Given the description of an element on the screen output the (x, y) to click on. 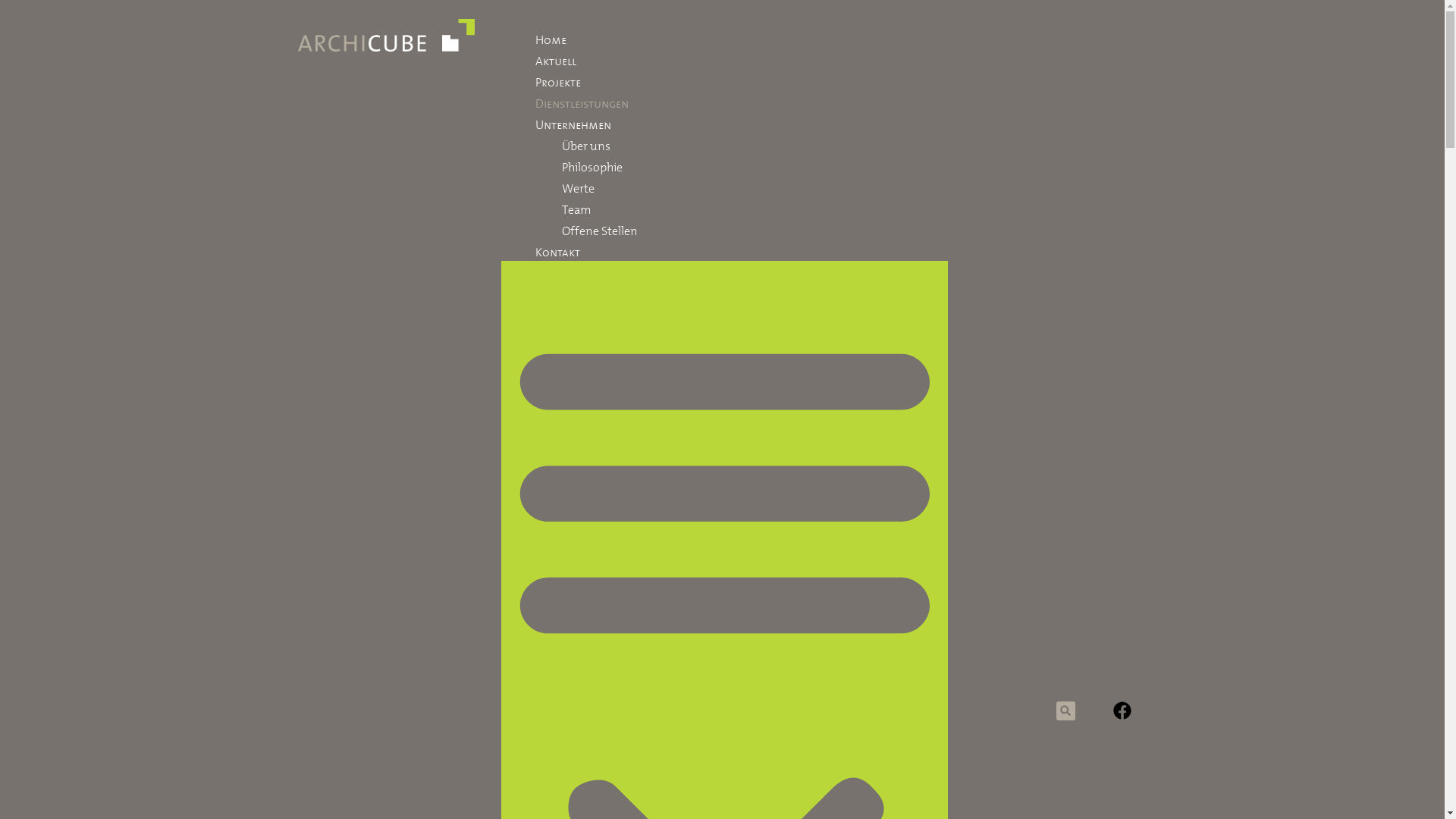
Aktuell Element type: text (555, 58)
Offene Stellen Element type: text (599, 228)
Unternehmen Element type: text (573, 122)
Philosophie Element type: text (591, 164)
Werte Element type: text (577, 186)
Dienstleistungen Element type: text (581, 101)
Projekte Element type: text (557, 80)
Home Element type: text (550, 37)
Team Element type: text (576, 207)
Kontakt Element type: text (557, 249)
